Given the description of an element on the screen output the (x, y) to click on. 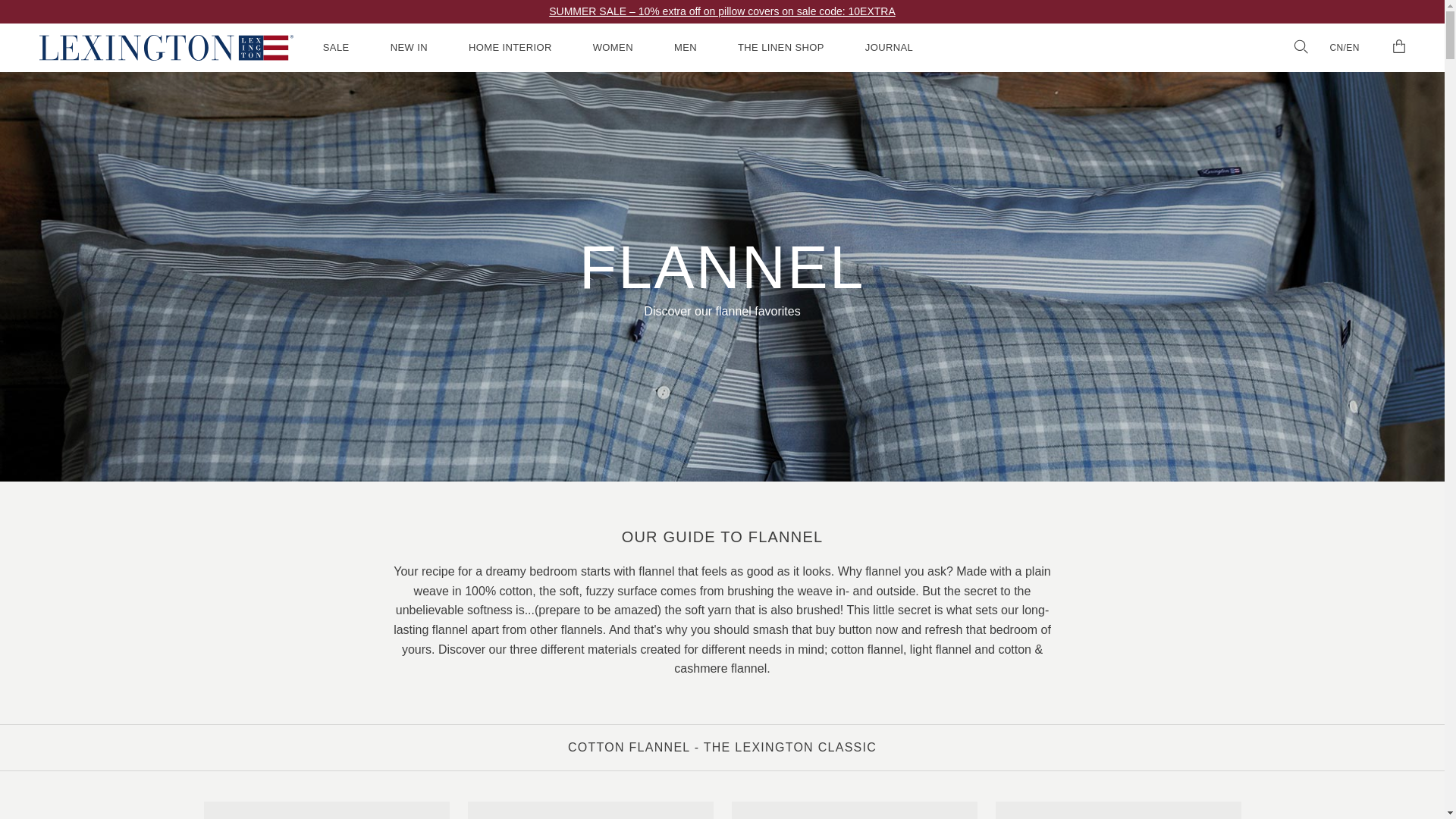
, (166, 47)
00 (1398, 47)
SALE (335, 47)
, (165, 47)
